Given the description of an element on the screen output the (x, y) to click on. 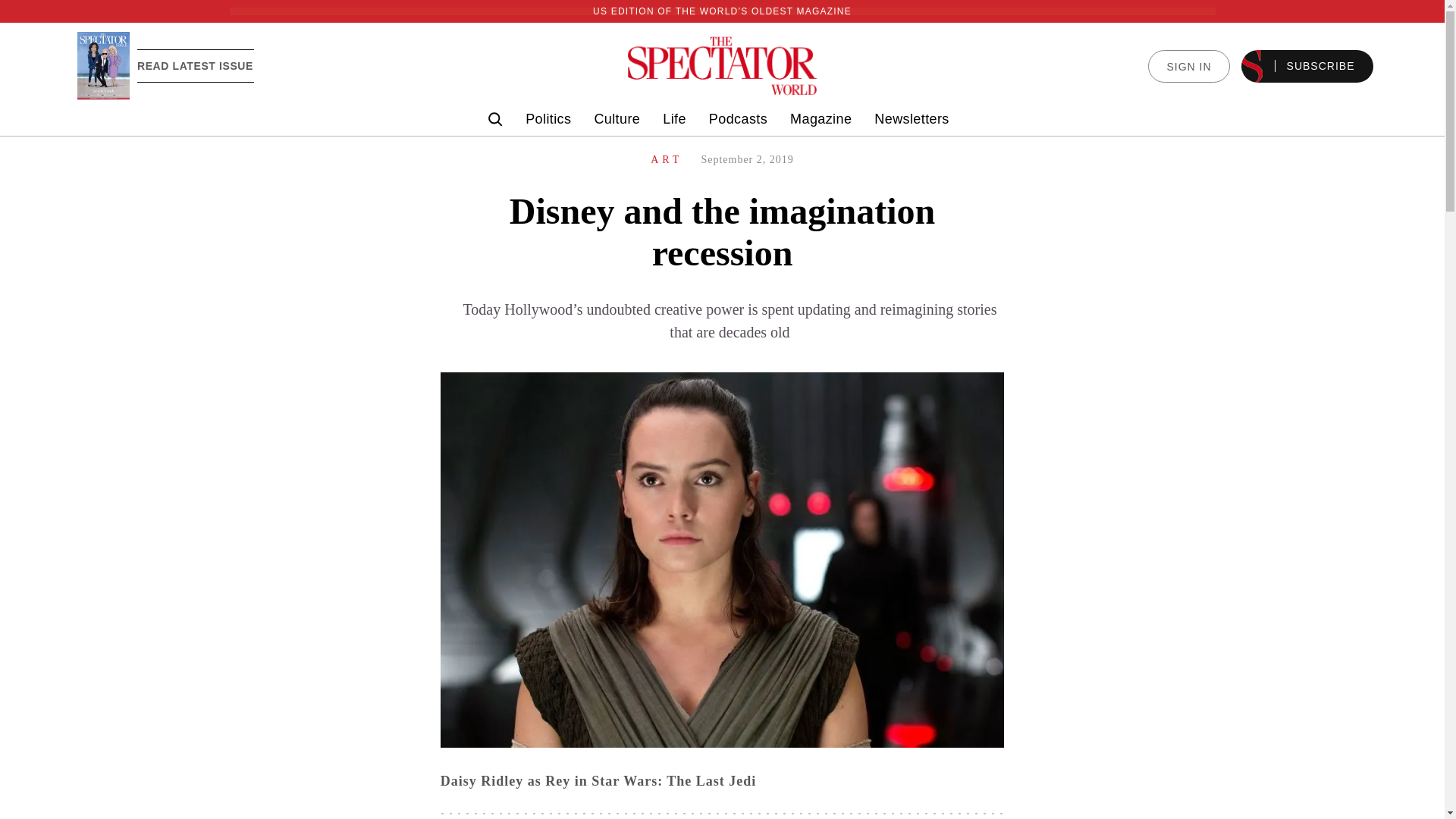
Life (673, 119)
READ LATEST ISSUE (194, 65)
Culture (616, 119)
Newsletters (911, 119)
Politics (547, 119)
SIGN IN (1188, 65)
ART (666, 159)
Magazine (820, 119)
August (103, 65)
Podcasts (737, 119)
SUBSCRIBE (1307, 65)
